Given the description of an element on the screen output the (x, y) to click on. 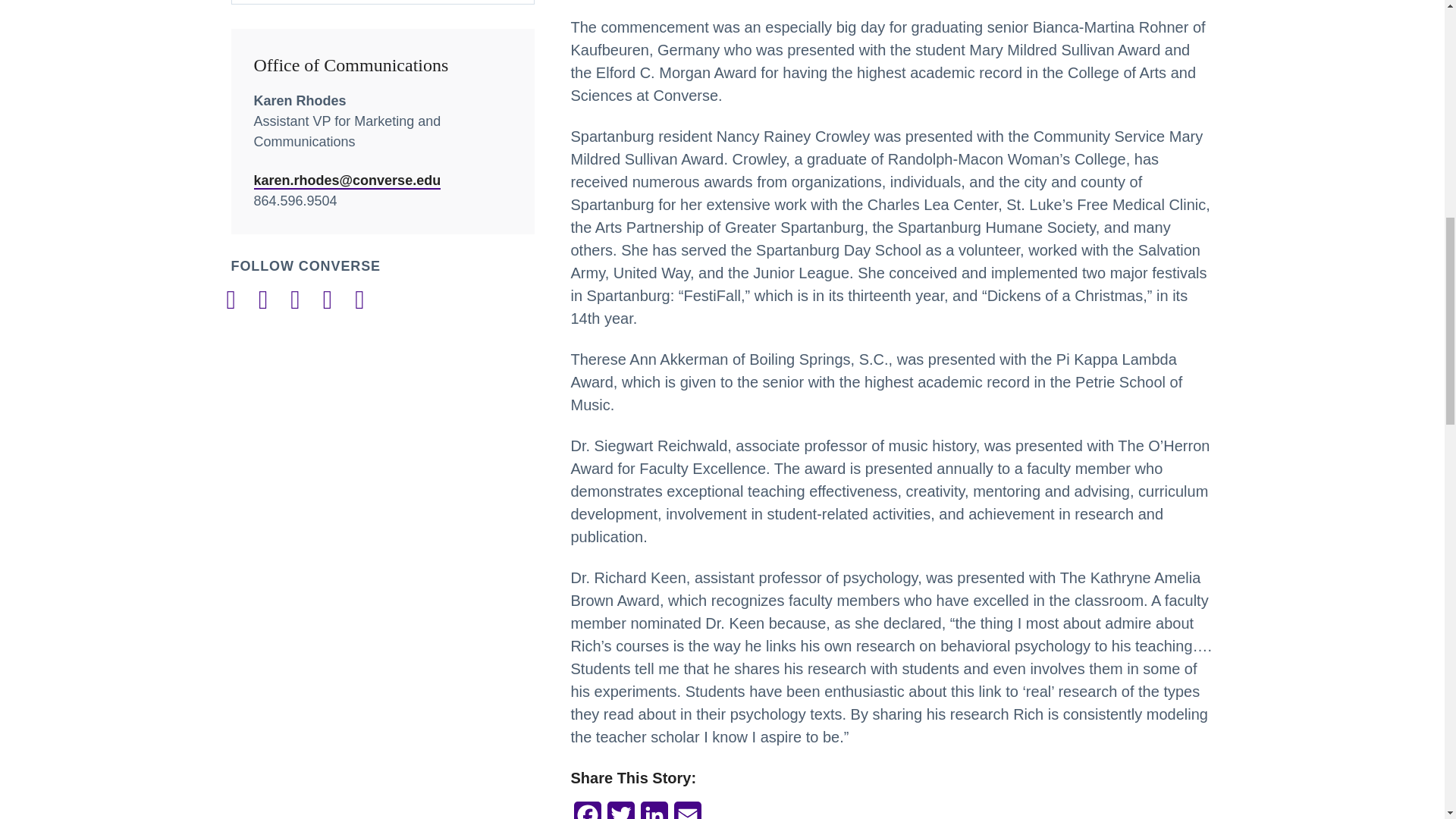
Facebook (587, 810)
Email (686, 810)
Twitter (620, 810)
LinkedIn (653, 810)
